Given the description of an element on the screen output the (x, y) to click on. 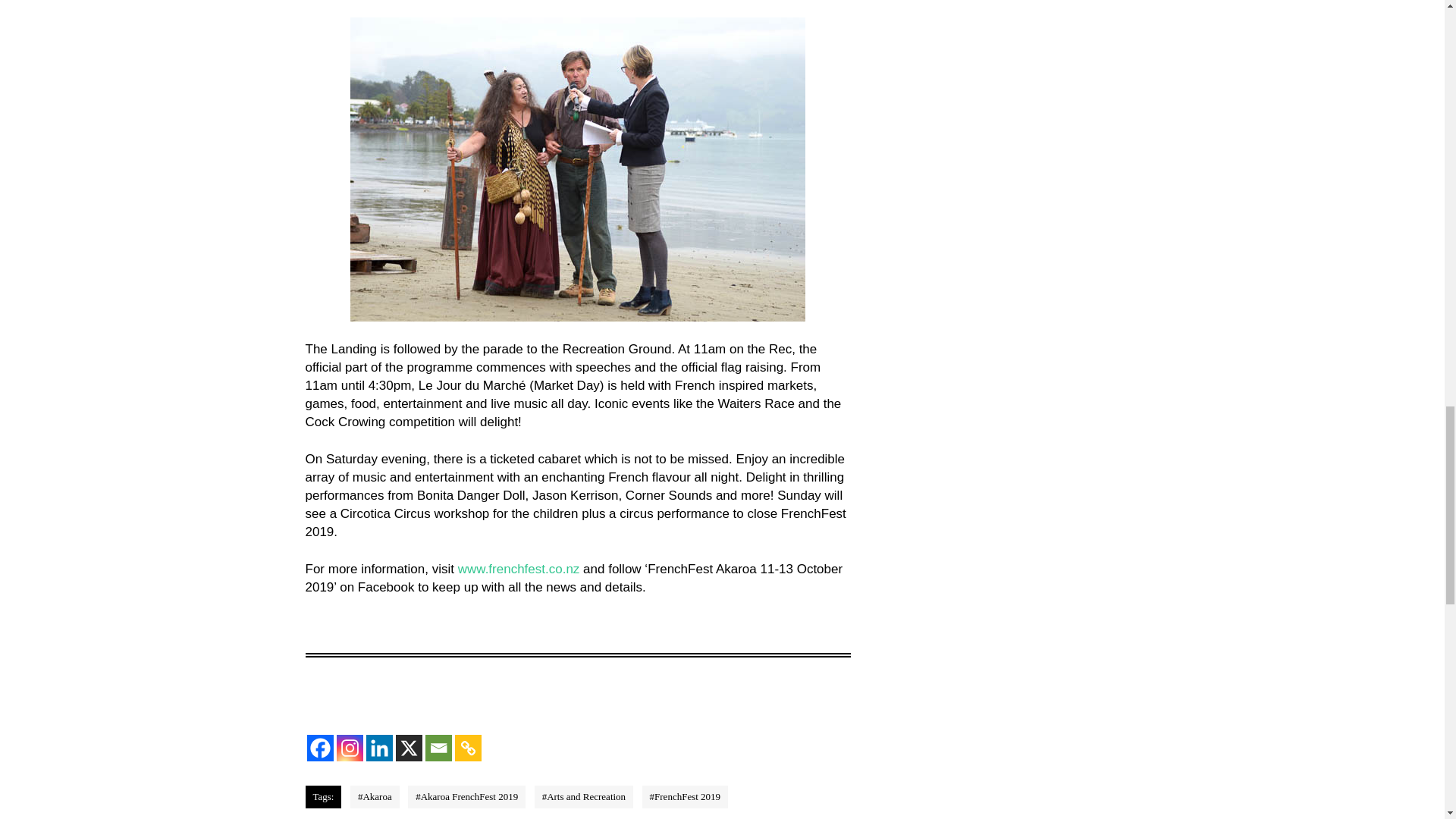
Email (438, 746)
Linkedin (378, 746)
Instagram (349, 746)
X (409, 746)
Facebook (319, 746)
Copy Link (467, 746)
